Given the description of an element on the screen output the (x, y) to click on. 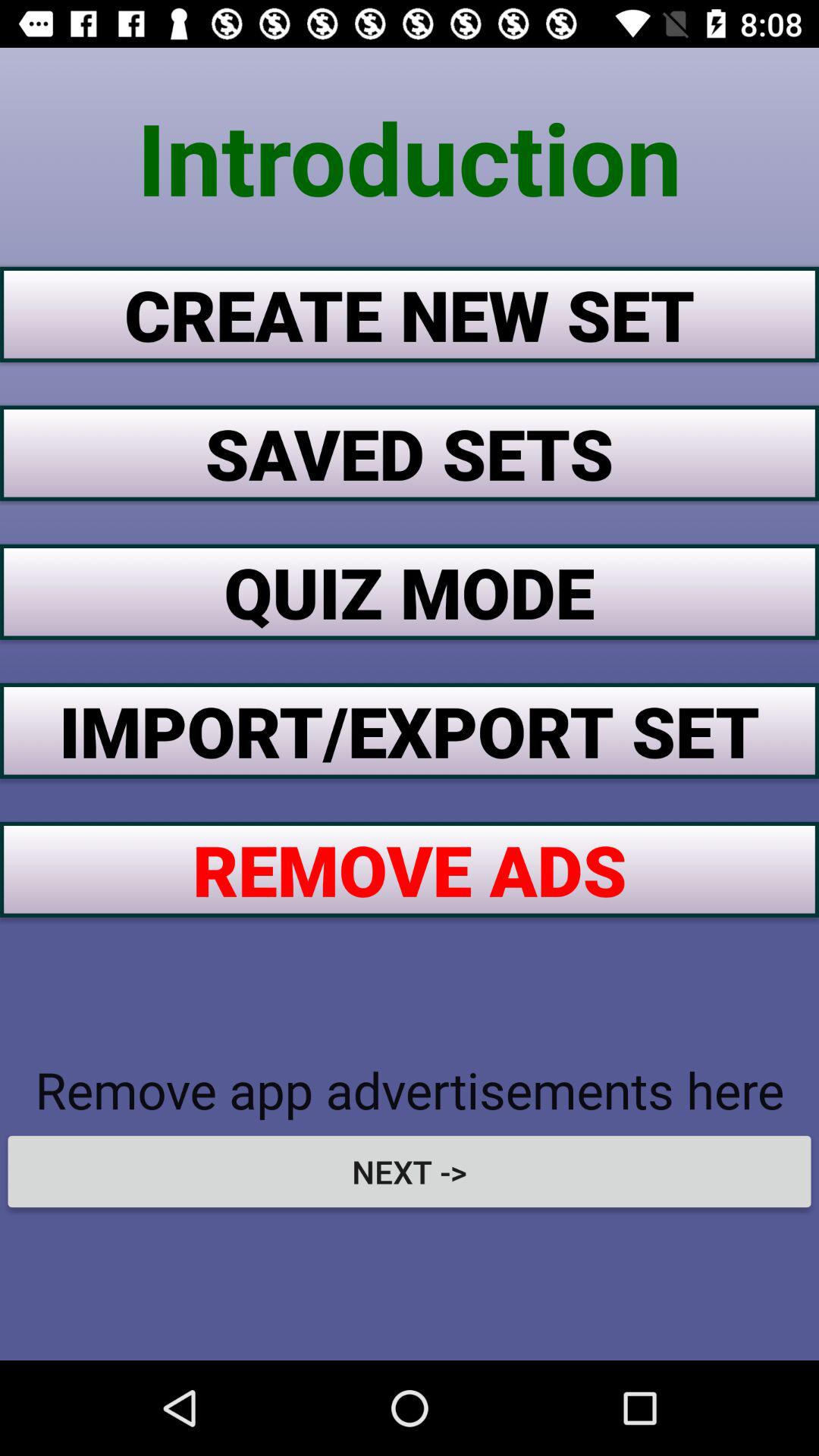
swipe until the saved sets item (409, 453)
